Given the description of an element on the screen output the (x, y) to click on. 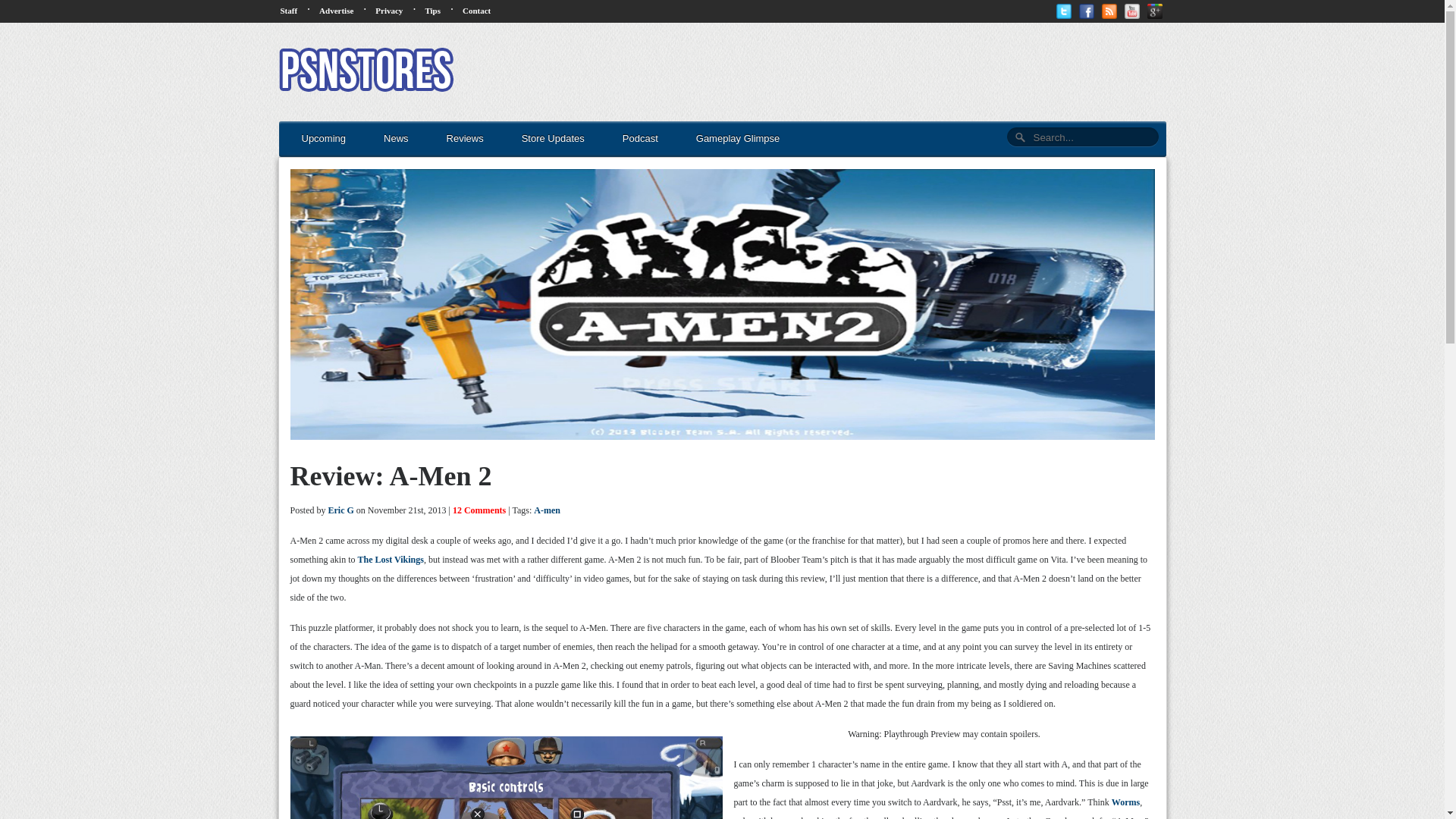
Advertisement (890, 71)
Posts by Eric G (341, 510)
Privacy (389, 10)
Upcoming (323, 138)
Contact (476, 10)
Advertise (335, 10)
Staff (289, 10)
Tips (433, 10)
News (395, 138)
